Given the description of an element on the screen output the (x, y) to click on. 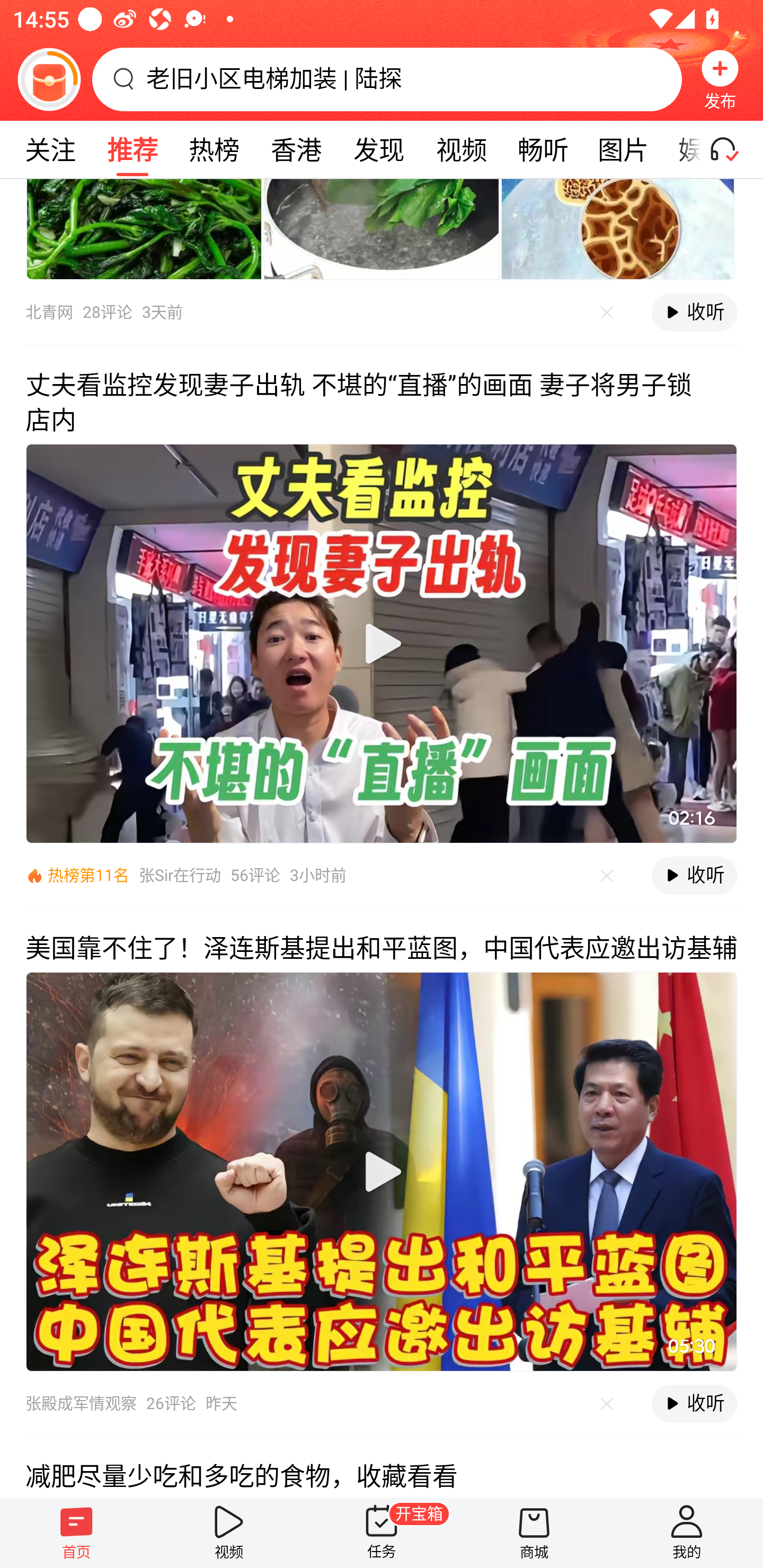
阅读赚金币 (48, 79)
老旧小区电梯加装 | 陆探 搜索框，老旧小区电梯加装 | 陆探 (387, 79)
发布 发布，按钮 (720, 78)
关注 (50, 149)
推荐 (132, 149)
热榜 (213, 149)
香港 (295, 149)
发现 (378, 149)
视频 (461, 149)
畅听 (542, 149)
图片 (623, 149)
听一听开关 (732, 149)
收听 (694, 311)
不感兴趣 (607, 311)
播放视频 视频播放器，双击屏幕打开播放控制 (381, 643)
播放视频 (381, 643)
收听 (694, 875)
不感兴趣 (607, 874)
播放视频 视频播放器，双击屏幕打开播放控制 (381, 1172)
播放视频 (381, 1171)
收听 (694, 1403)
不感兴趣 (607, 1403)
首页 (76, 1532)
视频 (228, 1532)
任务 开宝箱 (381, 1532)
商城 (533, 1532)
我的 (686, 1532)
